Given the description of an element on the screen output the (x, y) to click on. 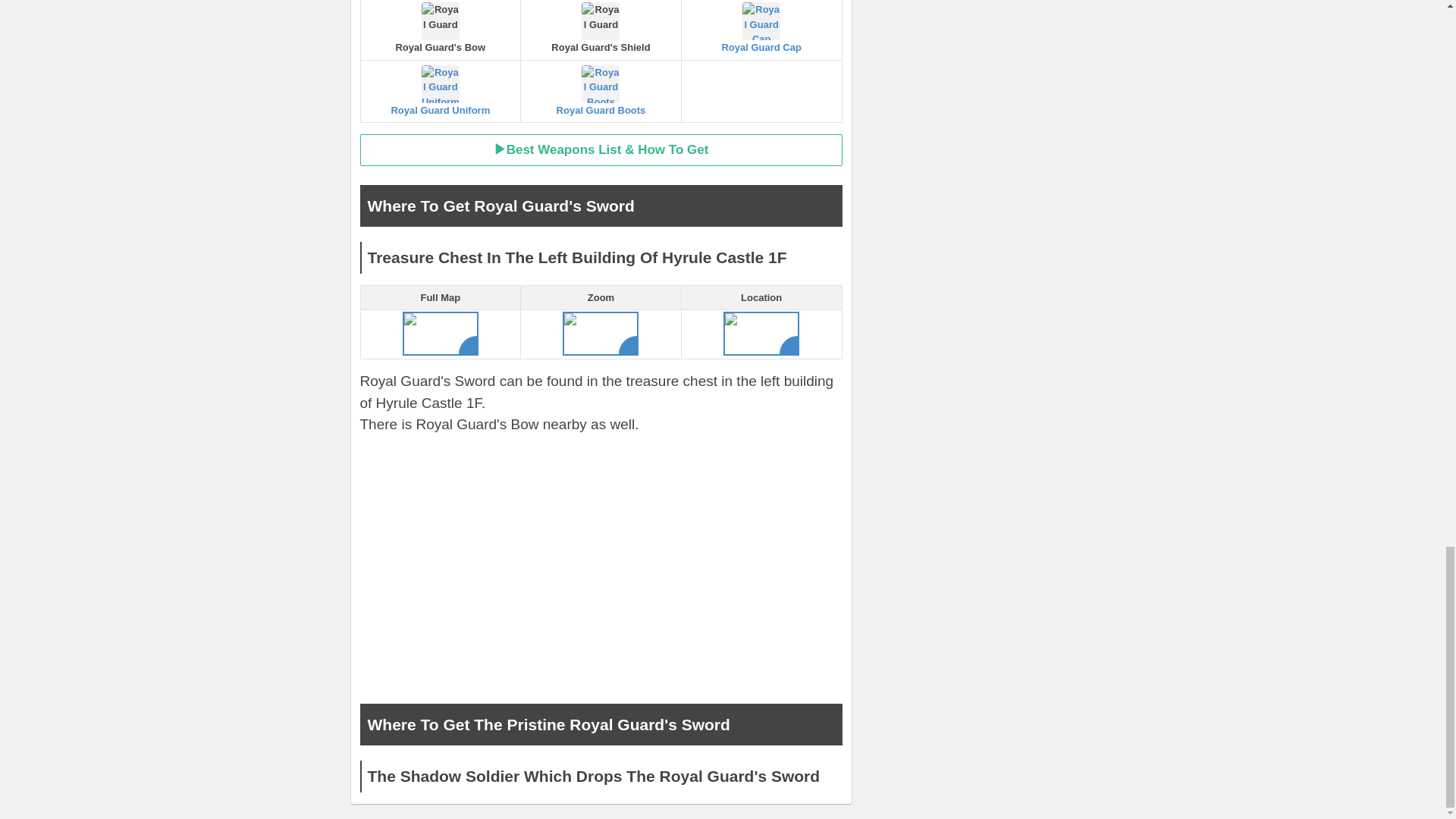
Royal Guard Boots (601, 90)
Royal Guard Cap (761, 27)
Royal Guard Uniform (440, 90)
